Given the description of an element on the screen output the (x, y) to click on. 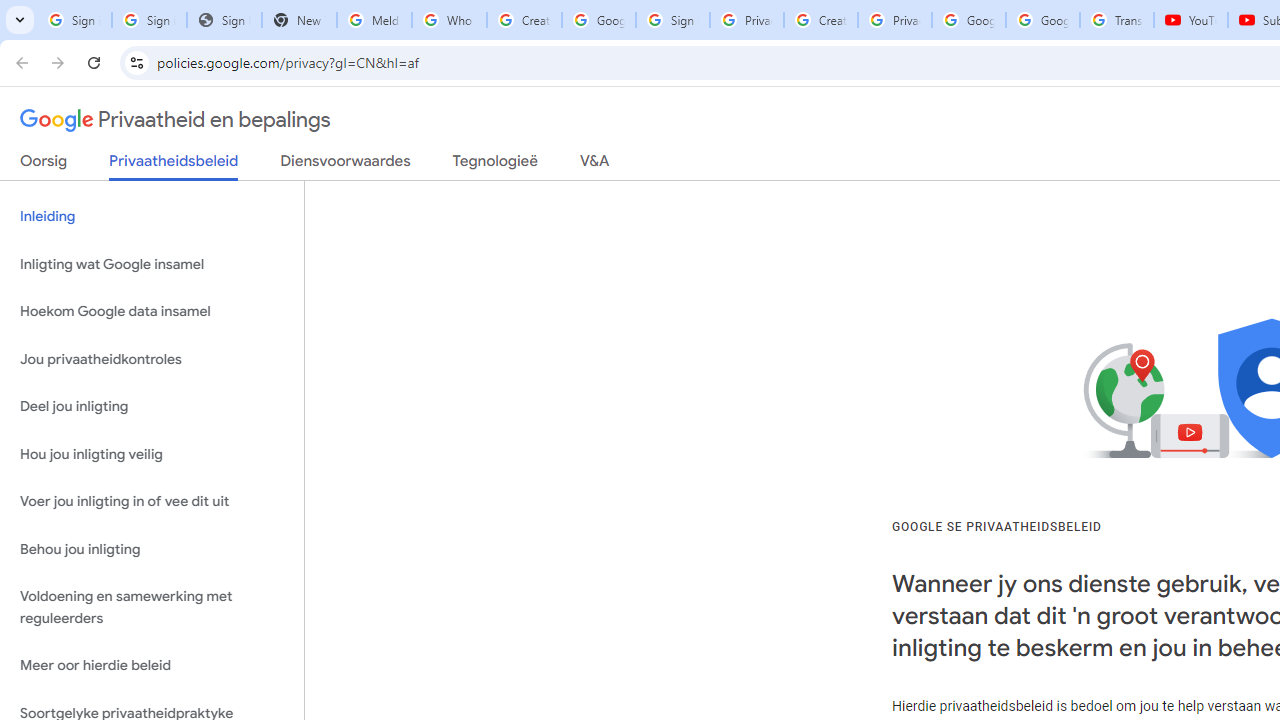
Hou jou inligting veilig (152, 453)
Sign in - Google Accounts (673, 20)
Meer oor hierdie beleid (152, 666)
Inleiding (152, 216)
Who is my administrator? - Google Account Help (449, 20)
Voer jou inligting in of vee dit uit (152, 502)
Create your Google Account (820, 20)
Hoekom Google data insamel (152, 312)
